Given the description of an element on the screen output the (x, y) to click on. 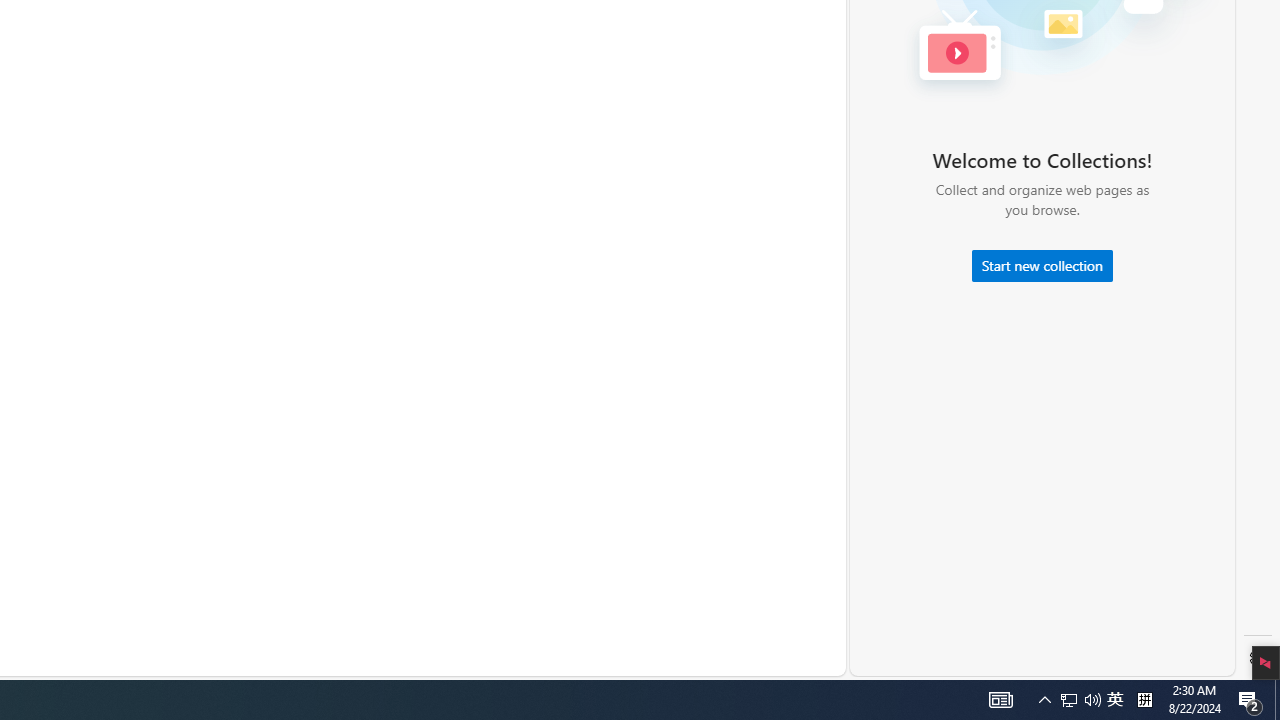
Start new collection (1042, 265)
